Given the description of an element on the screen output the (x, y) to click on. 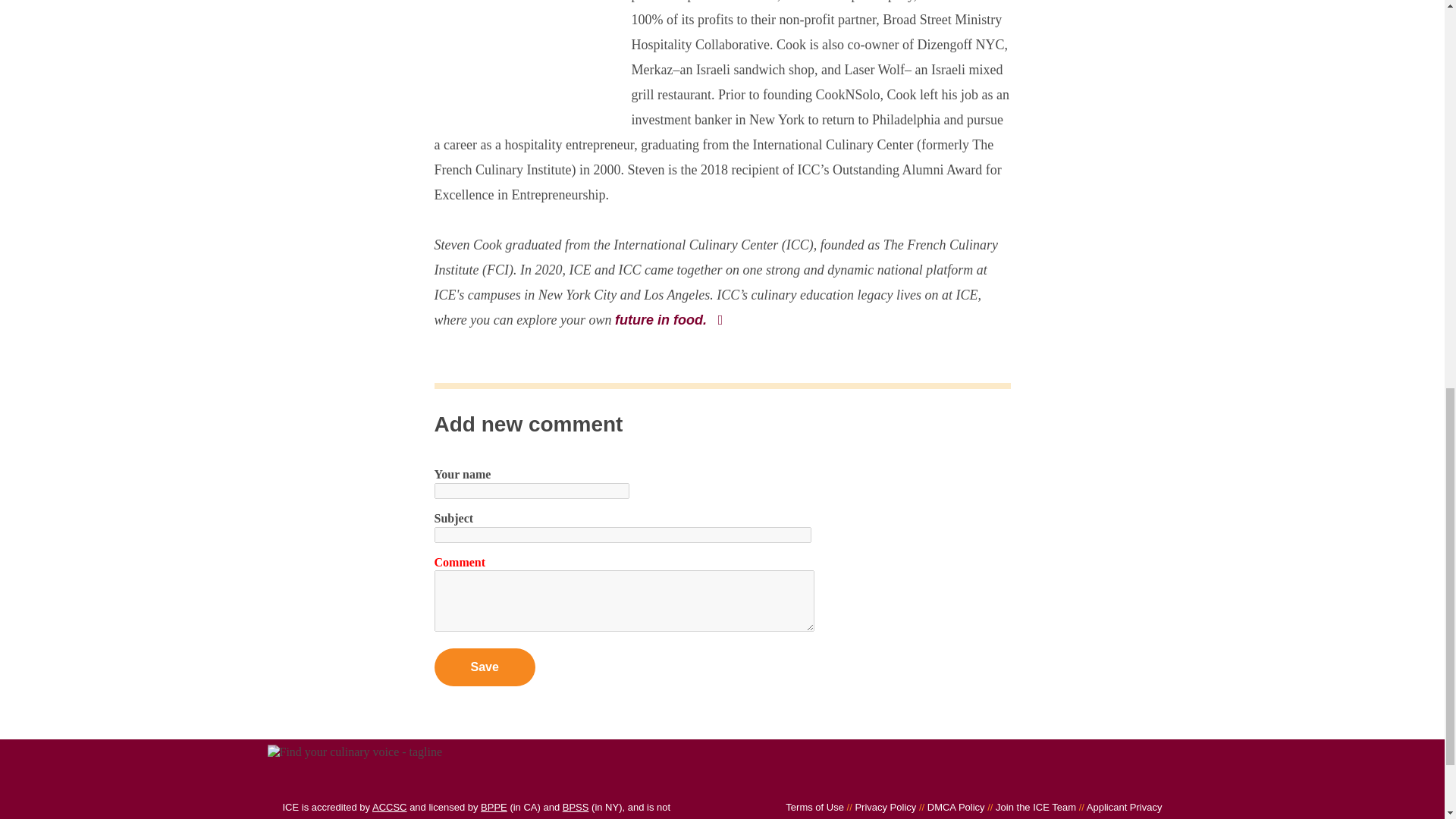
Bureau for Private Postsecondary Education (493, 807)
ACCSC (389, 807)
Join the ICE Team (1030, 807)
Terms of Use (815, 807)
Save (483, 667)
BPPE (493, 807)
Privacy Policy (879, 807)
future in food. (669, 319)
Save (483, 667)
Accrediting Commission of Career Schools and Colleges (389, 807)
Applicant Privacy Statement (950, 810)
BPSS (575, 807)
DMCA Policy (949, 807)
